Given the description of an element on the screen output the (x, y) to click on. 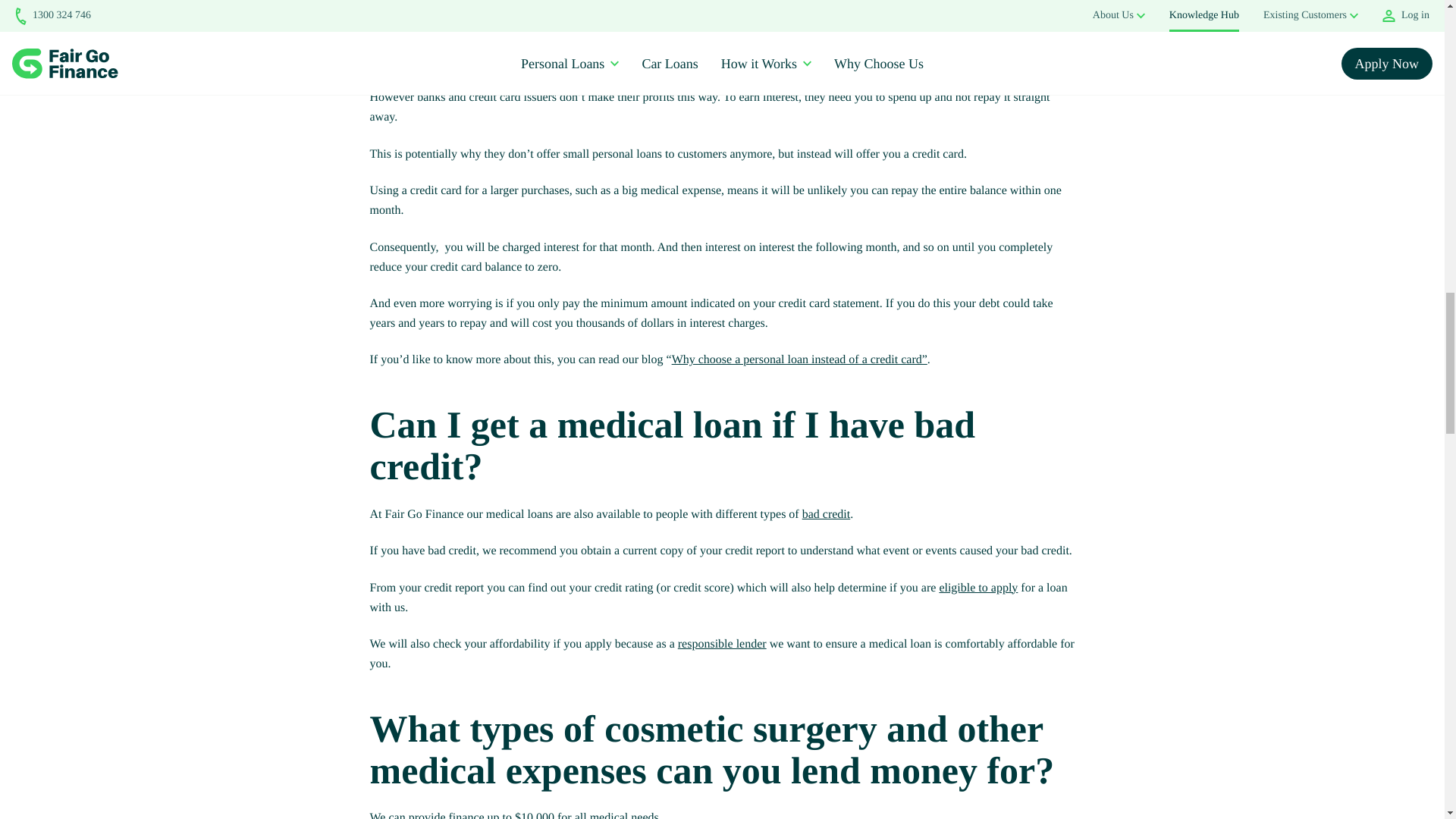
eligible to apply (978, 587)
responsible lender (722, 644)
bad credit (826, 513)
